Given the description of an element on the screen output the (x, y) to click on. 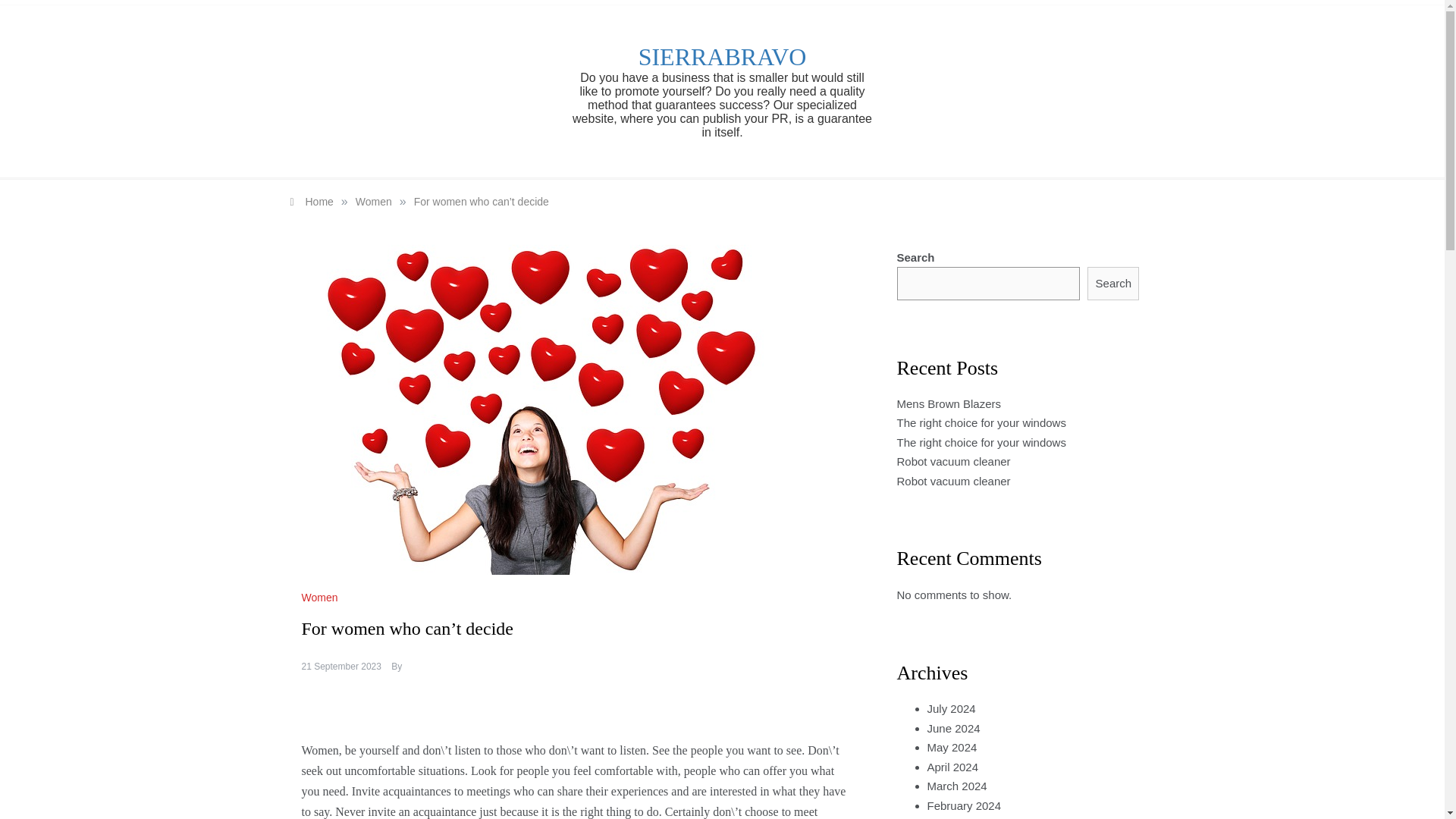
Women (373, 201)
May 2024 (951, 747)
April 2024 (952, 766)
Robot vacuum cleaner (953, 481)
July 2024 (950, 707)
SIERRABRAVO (722, 56)
January 2024 (960, 818)
Home (311, 201)
Women (321, 597)
Robot vacuum cleaner (953, 461)
21 September 2023 (341, 665)
March 2024 (956, 785)
Mens Brown Blazers (948, 403)
Search (1112, 283)
February 2024 (963, 805)
